Given the description of an element on the screen output the (x, y) to click on. 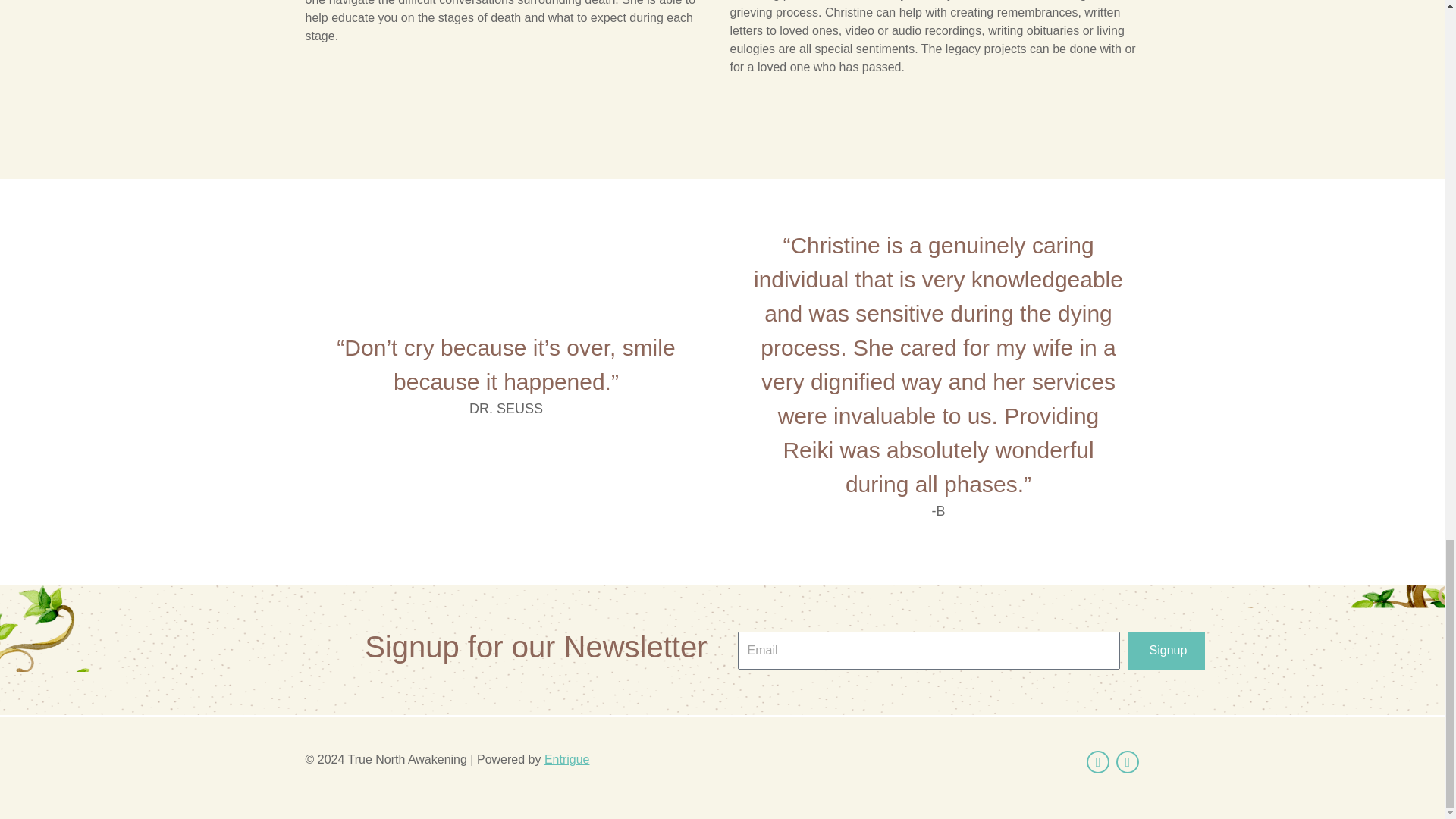
Entrigue (566, 758)
Facebook-f (1097, 762)
Linkedin-in (1127, 762)
Signup (1165, 650)
